Given the description of an element on the screen output the (x, y) to click on. 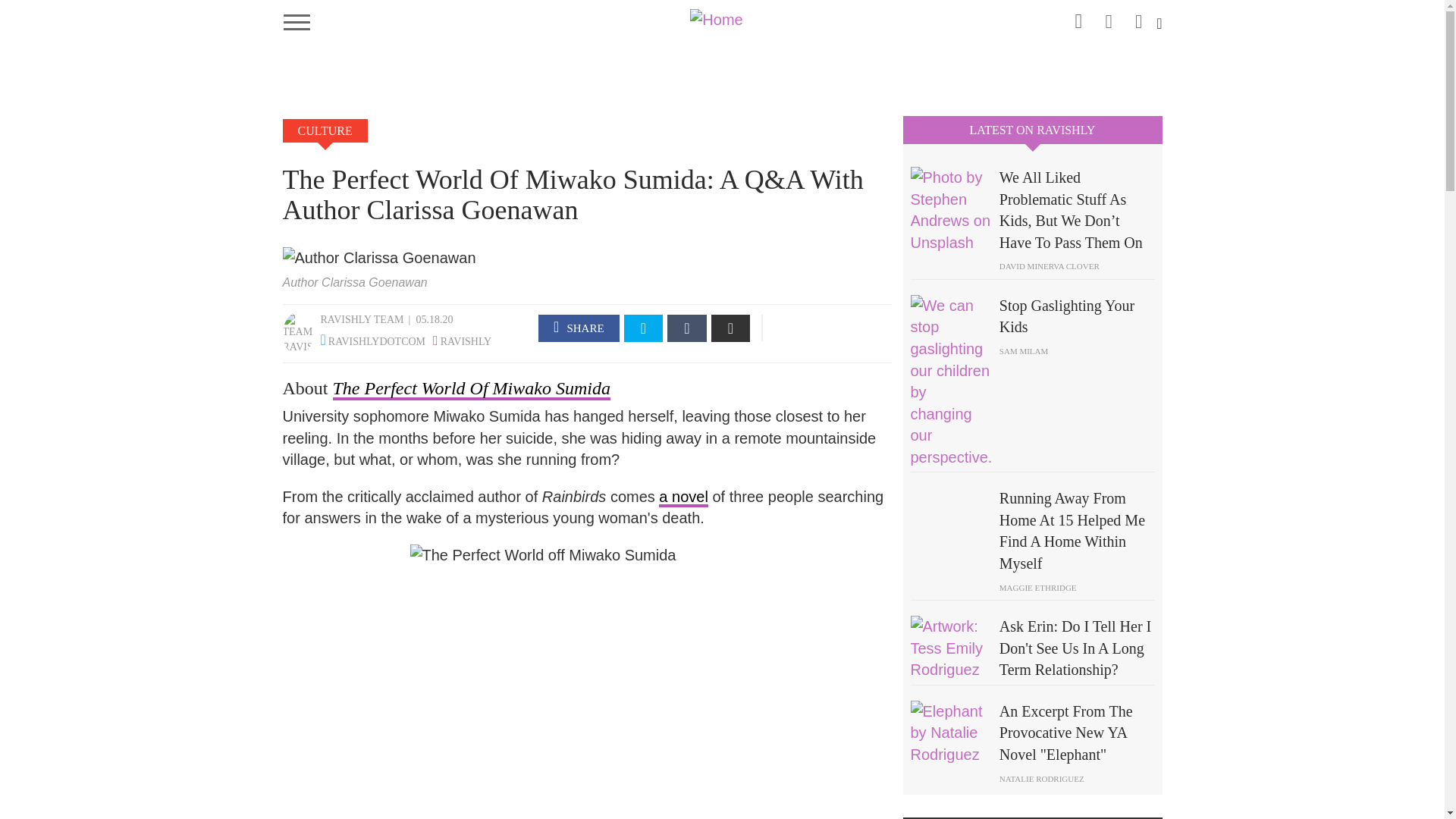
RAVISHLY TEAM (361, 319)
twitter (643, 328)
facebook (1108, 16)
RAVISHLYDOTCOM (377, 341)
twitter (1138, 16)
facebook (579, 328)
Tumblr (686, 328)
Email (731, 328)
CULTURE (324, 130)
instagram (1077, 18)
Home (722, 18)
